Given the description of an element on the screen output the (x, y) to click on. 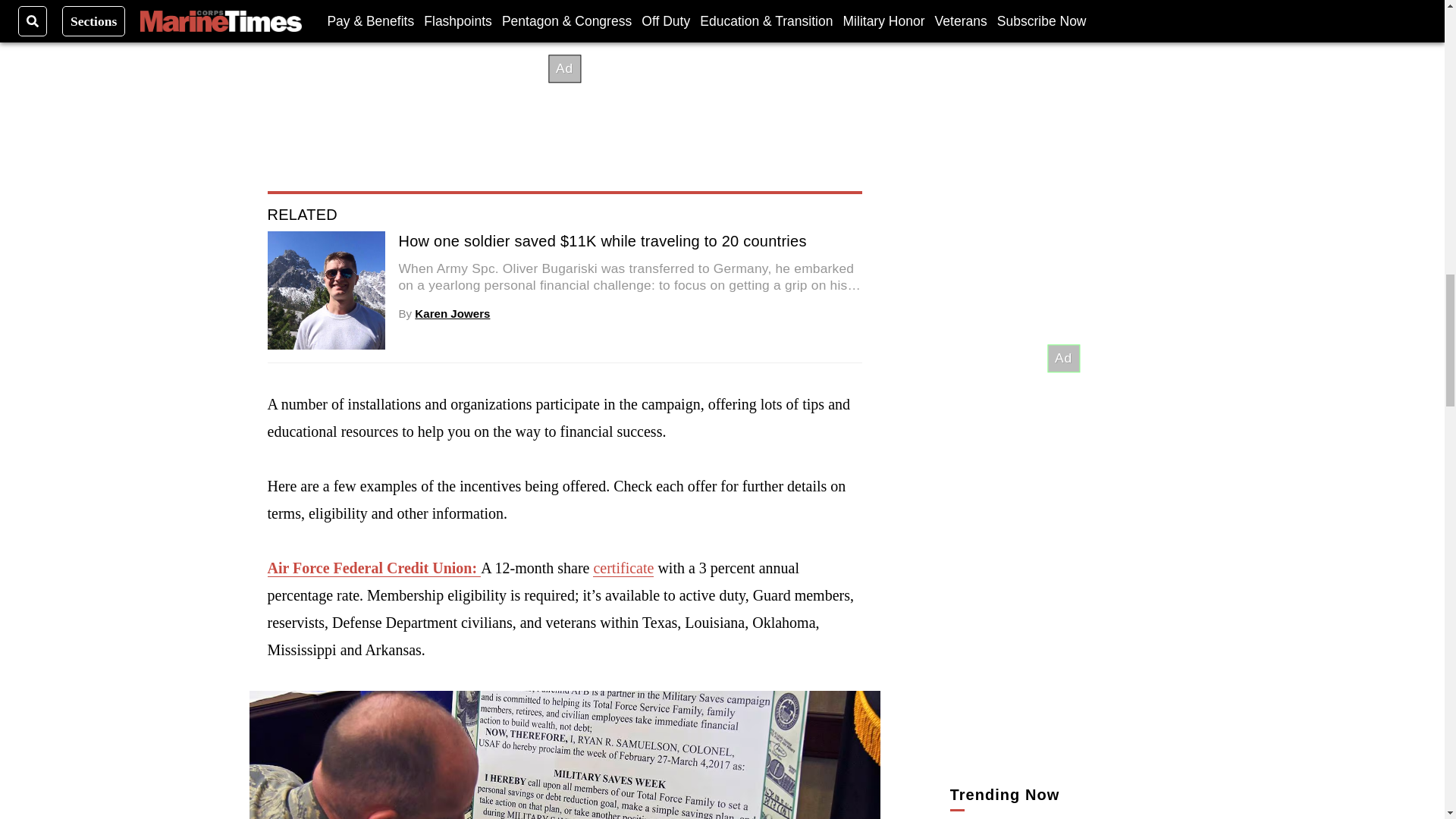
3rd party ad content (1062, 33)
